Given the description of an element on the screen output the (x, y) to click on. 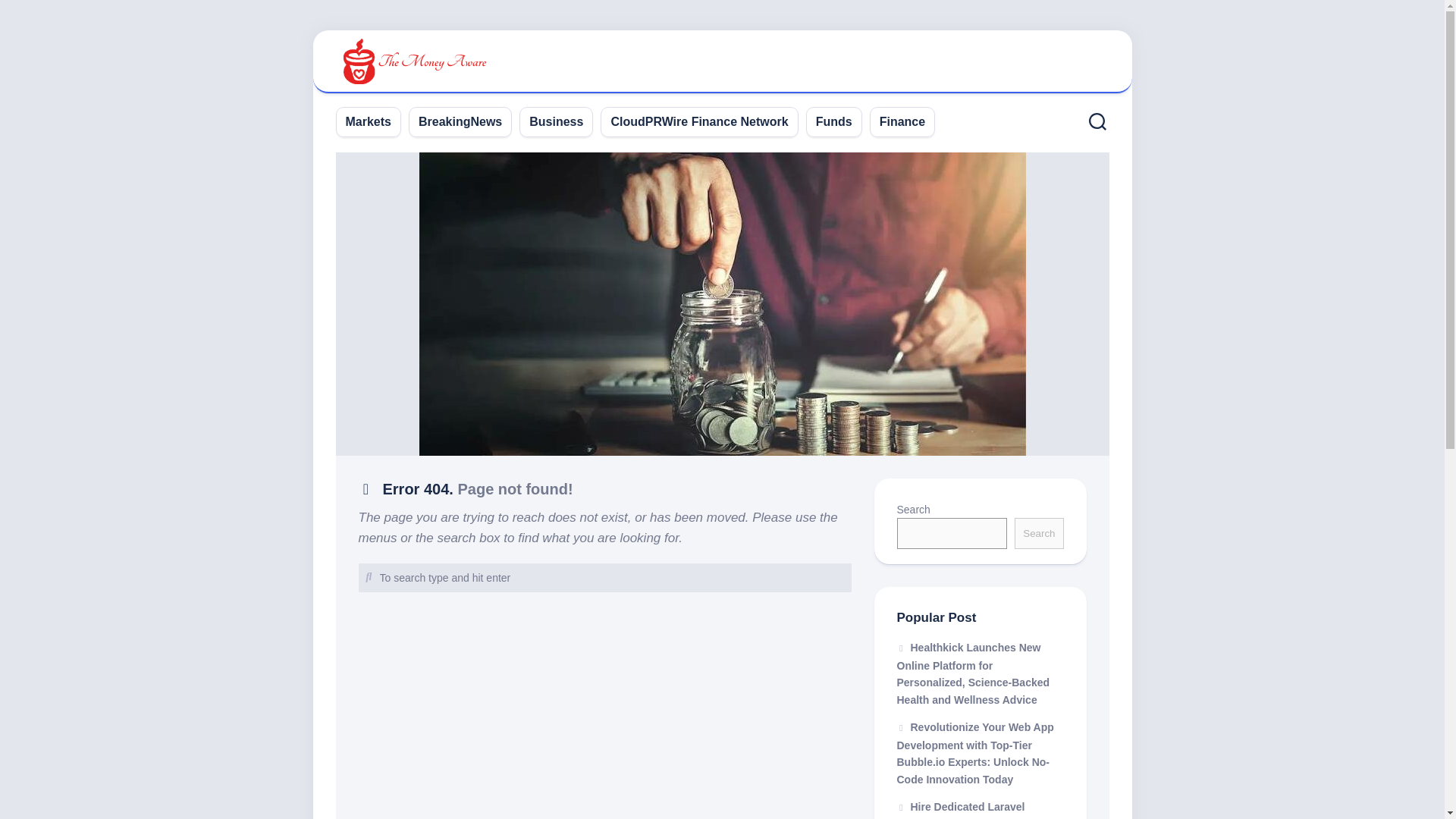
Business (556, 121)
To search type and hit enter (604, 577)
Markets (368, 121)
Finance (901, 121)
Search (1038, 532)
BreakingNews (460, 121)
To search type and hit enter (604, 577)
CloudPRWire Finance Network (698, 121)
